Given the description of an element on the screen output the (x, y) to click on. 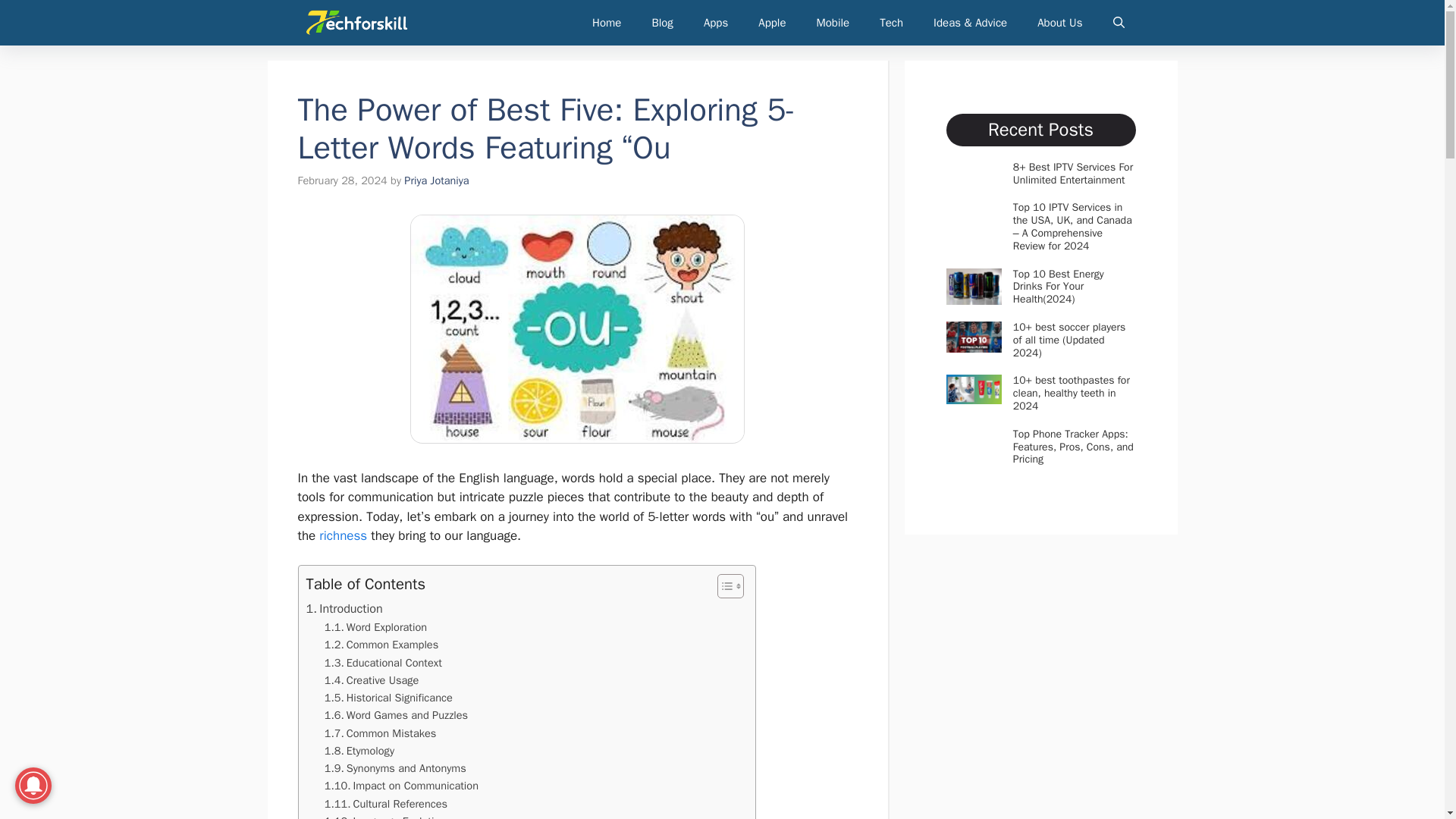
Common Mistakes (380, 733)
Cultural References (385, 804)
Techforskill (355, 22)
richness (342, 535)
View all posts by Priya Jotaniya (436, 180)
Creative Usage (371, 680)
Apps (715, 22)
Word Exploration (375, 627)
Language Evolution (384, 816)
Historical Significance (388, 697)
Common Examples (381, 644)
About Us (1059, 22)
Word Exploration (375, 627)
Apple (771, 22)
Home (606, 22)
